Given the description of an element on the screen output the (x, y) to click on. 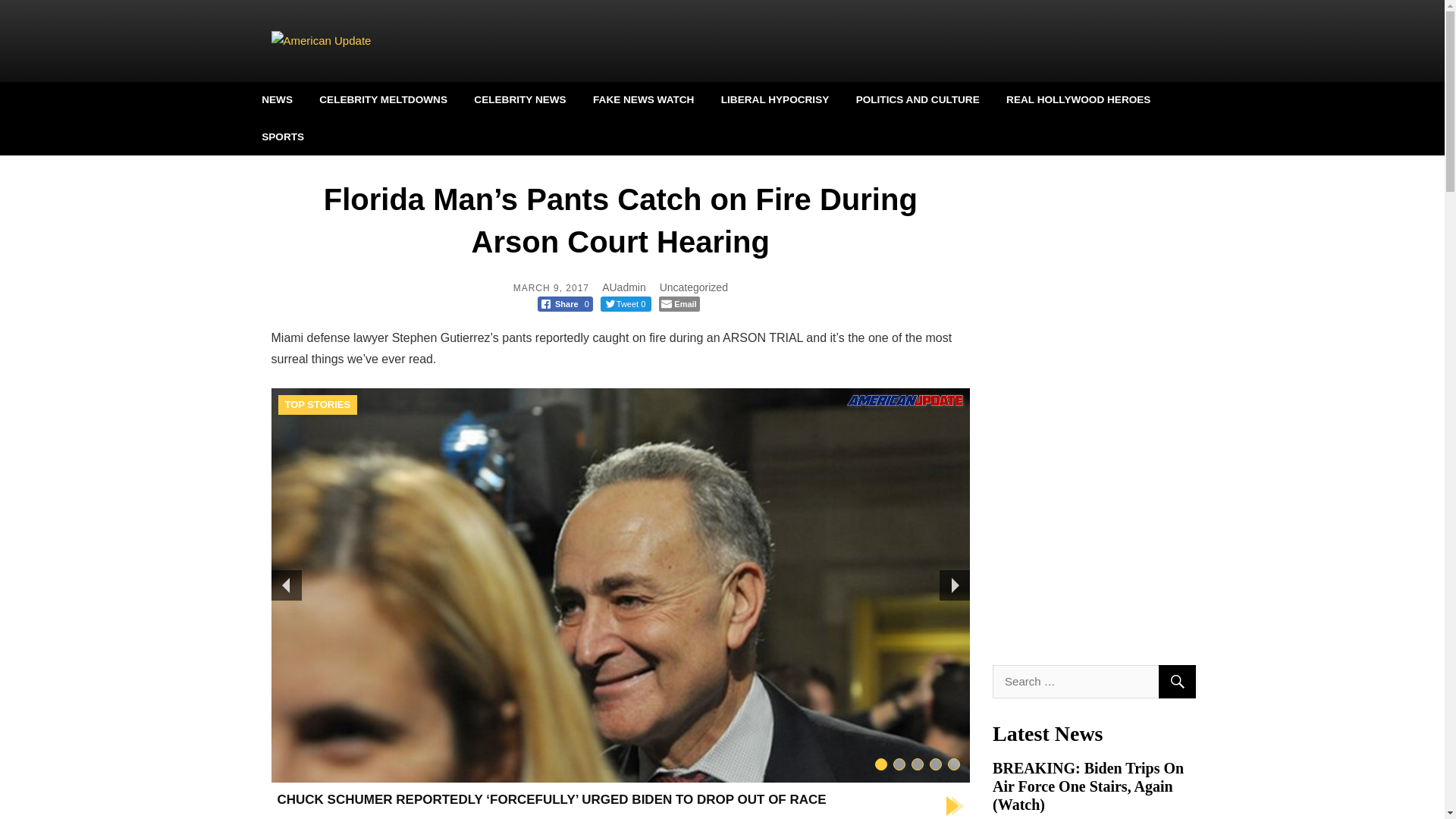
Share 0 (564, 304)
CELEBRITY NEWS (520, 99)
MARCH 9, 2017 (551, 287)
AUadmin (624, 287)
FAKE NEWS WATCH (643, 99)
Uncategorized (693, 287)
REAL HOLLYWOOD HEROES (1078, 99)
View all posts by AUadmin (624, 287)
LIBERAL HYPOCRISY (774, 99)
POLITICS AND CULTURE (917, 99)
Email (678, 304)
CELEBRITY MELTDOWNS (382, 99)
Tweet 0 (625, 304)
NEWS (277, 99)
3:12 pm (551, 287)
